Given the description of an element on the screen output the (x, y) to click on. 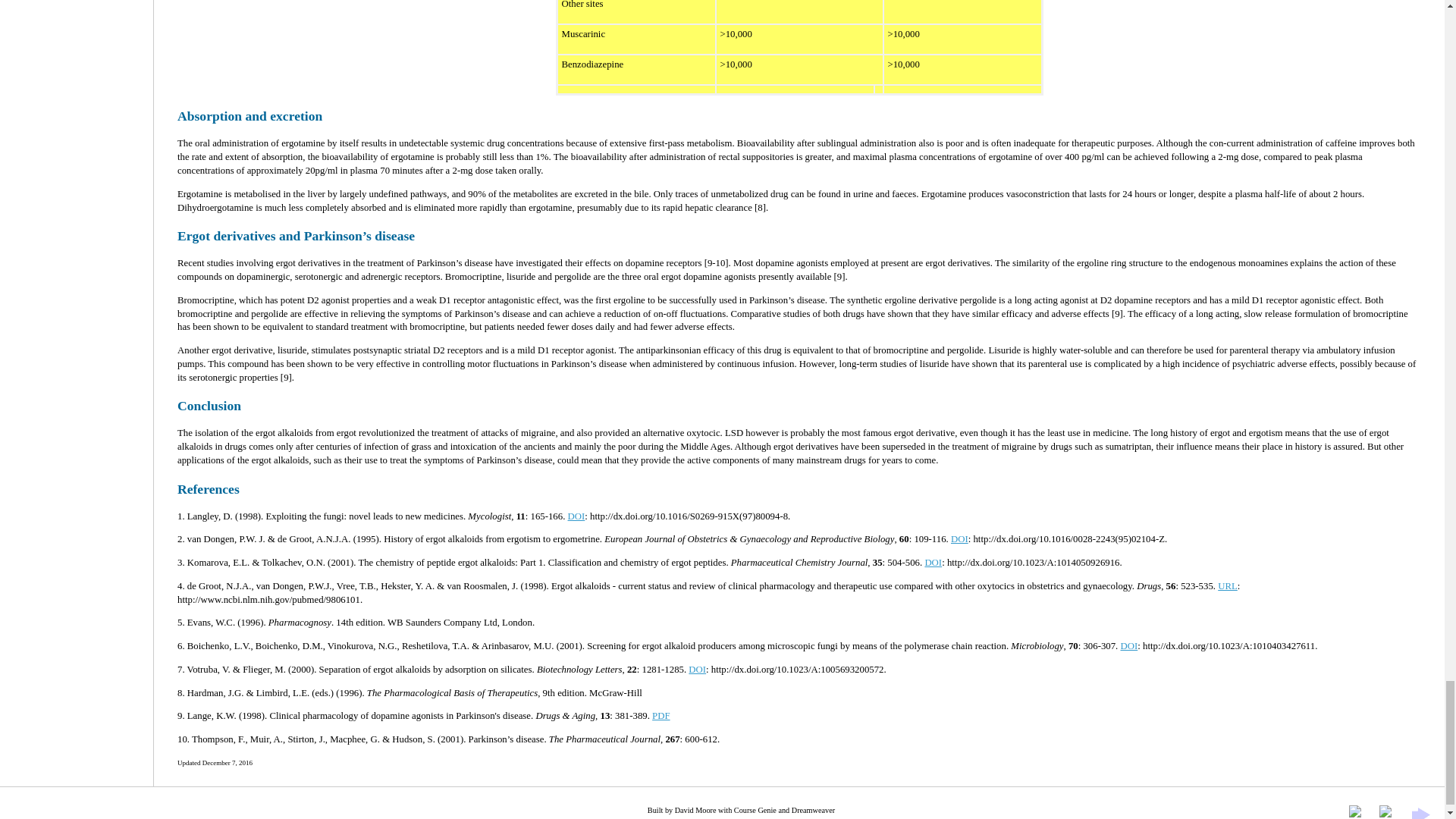
DOI (576, 516)
DOI (697, 669)
PDF (660, 715)
URL (1227, 585)
DOI (933, 562)
DOI (1129, 645)
DOI (959, 538)
